Given the description of an element on the screen output the (x, y) to click on. 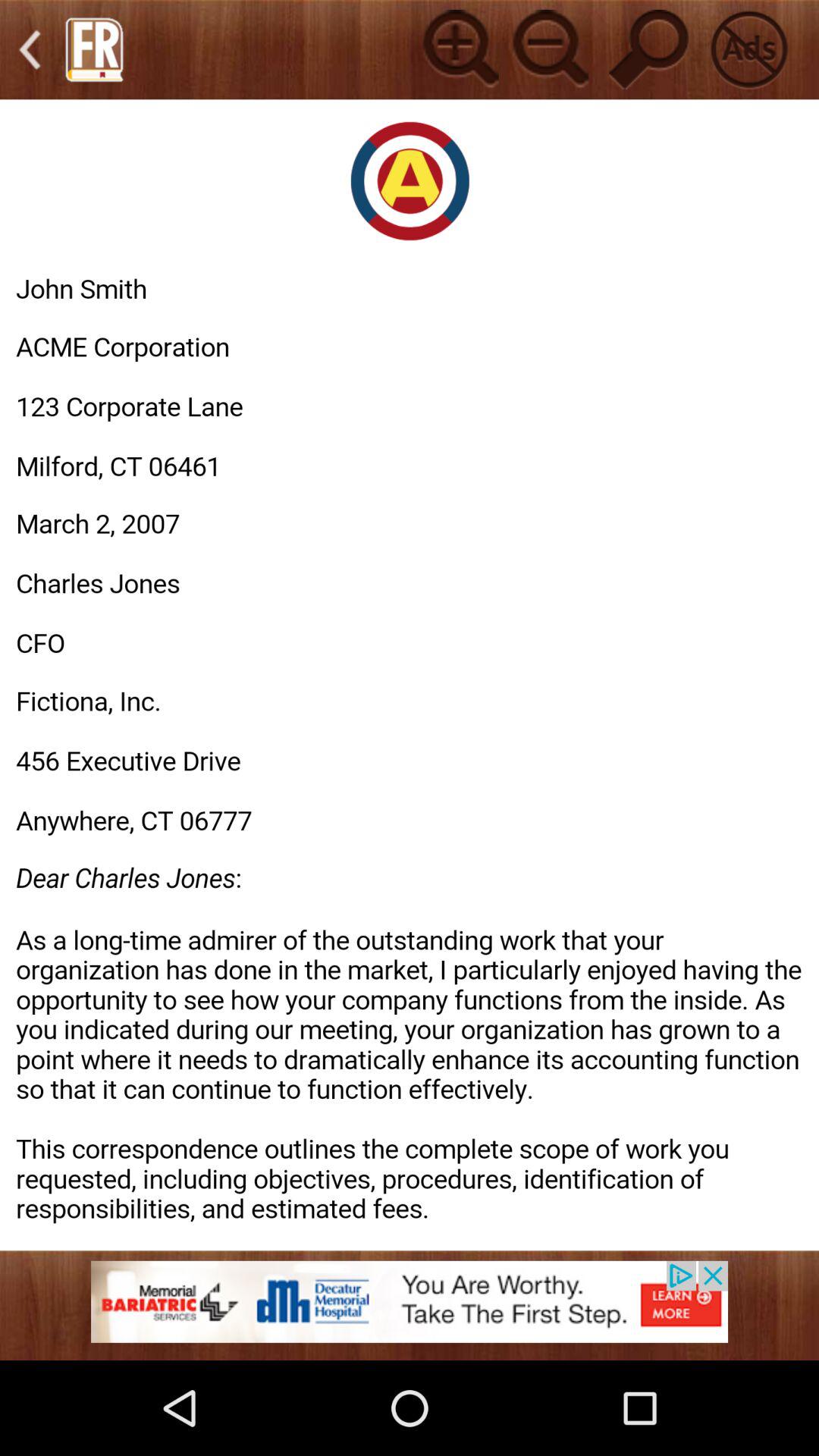
banner advertisement (409, 1310)
